Given the description of an element on the screen output the (x, y) to click on. 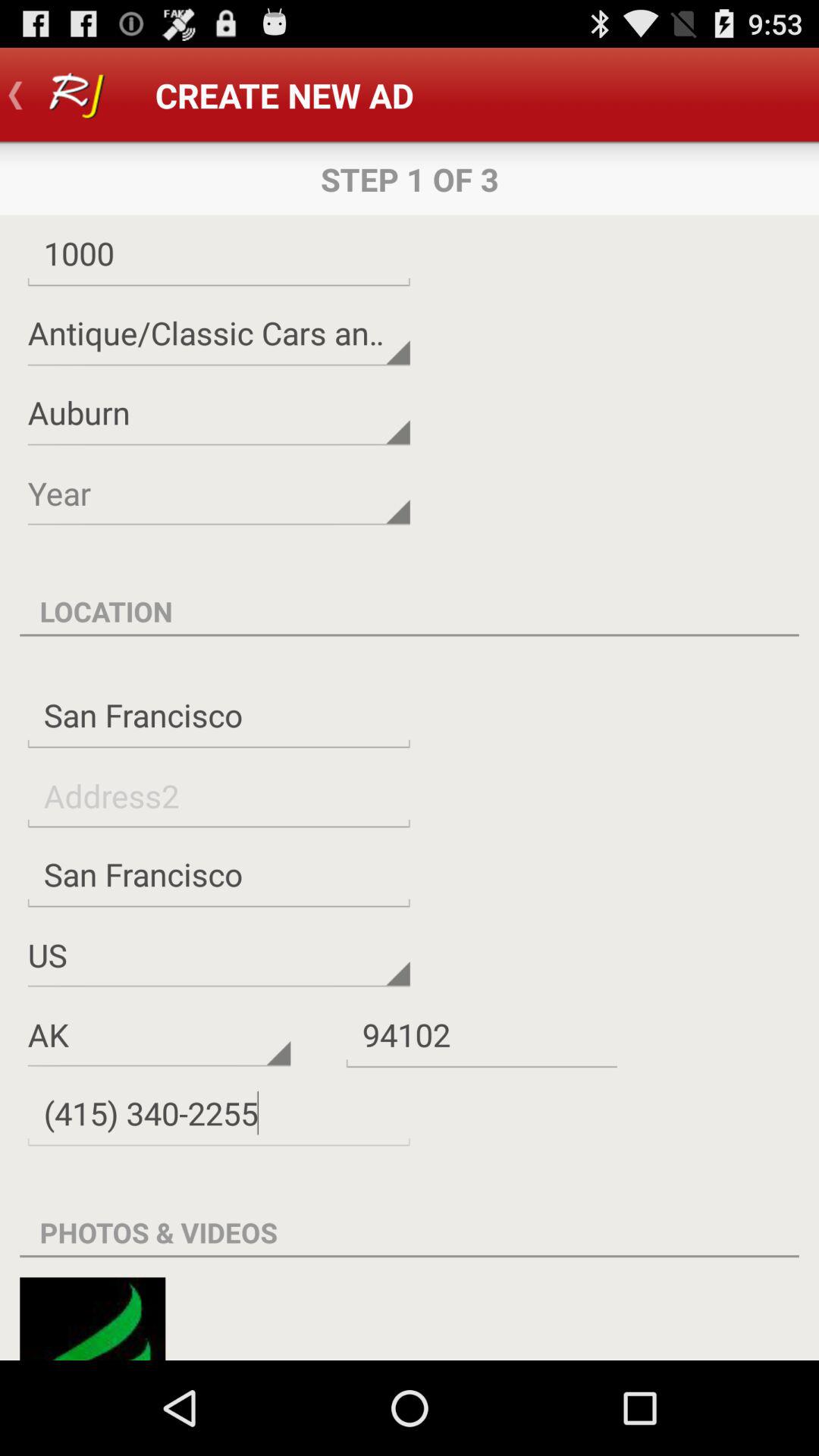
enter the address (218, 795)
